Given the description of an element on the screen output the (x, y) to click on. 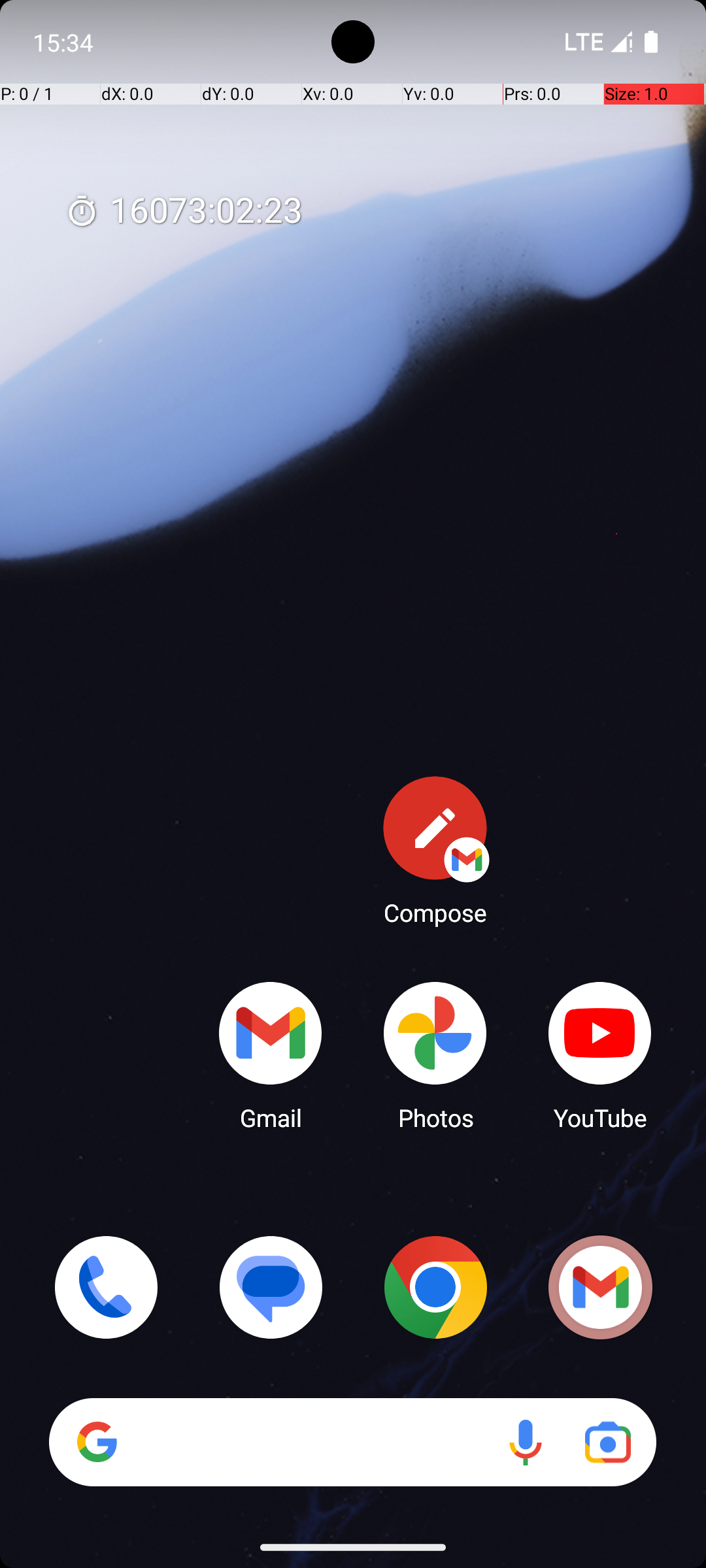
16073:02:23 Element type: android.widget.TextView (183, 210)
